Given the description of an element on the screen output the (x, y) to click on. 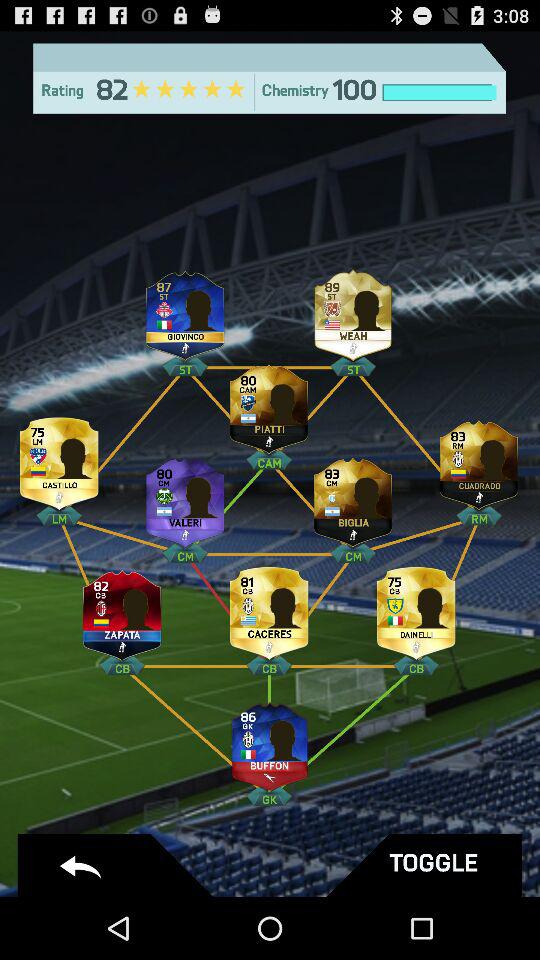
go to previous (118, 865)
